Given the description of an element on the screen output the (x, y) to click on. 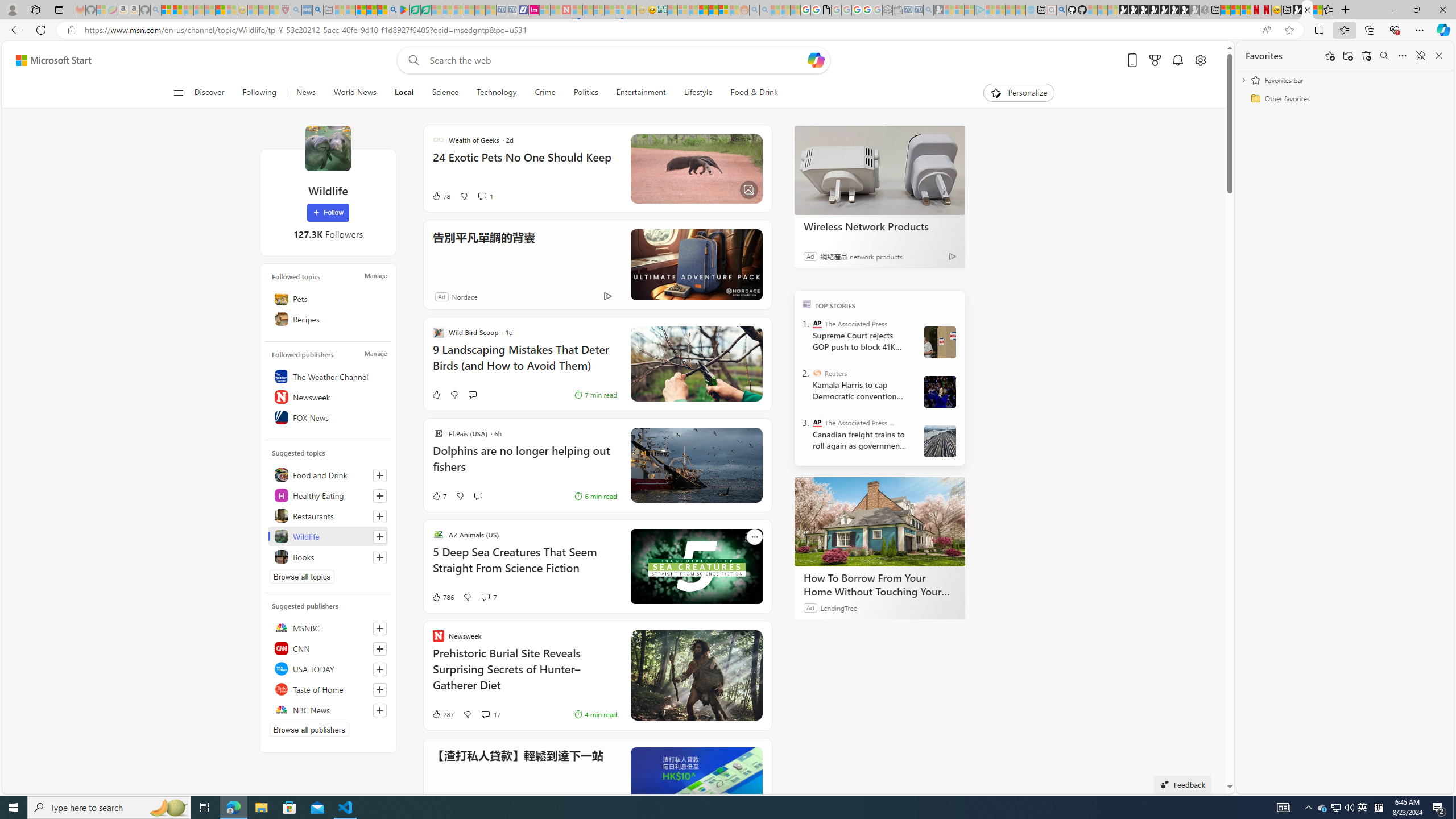
Class: hero-image (696, 566)
Jobs - lastminute.com Investor Portal (534, 9)
Bluey: Let's Play! - Apps on Google Play (404, 9)
78 Like (440, 196)
Newsweek (327, 397)
github - Search (1061, 9)
